Given the description of an element on the screen output the (x, y) to click on. 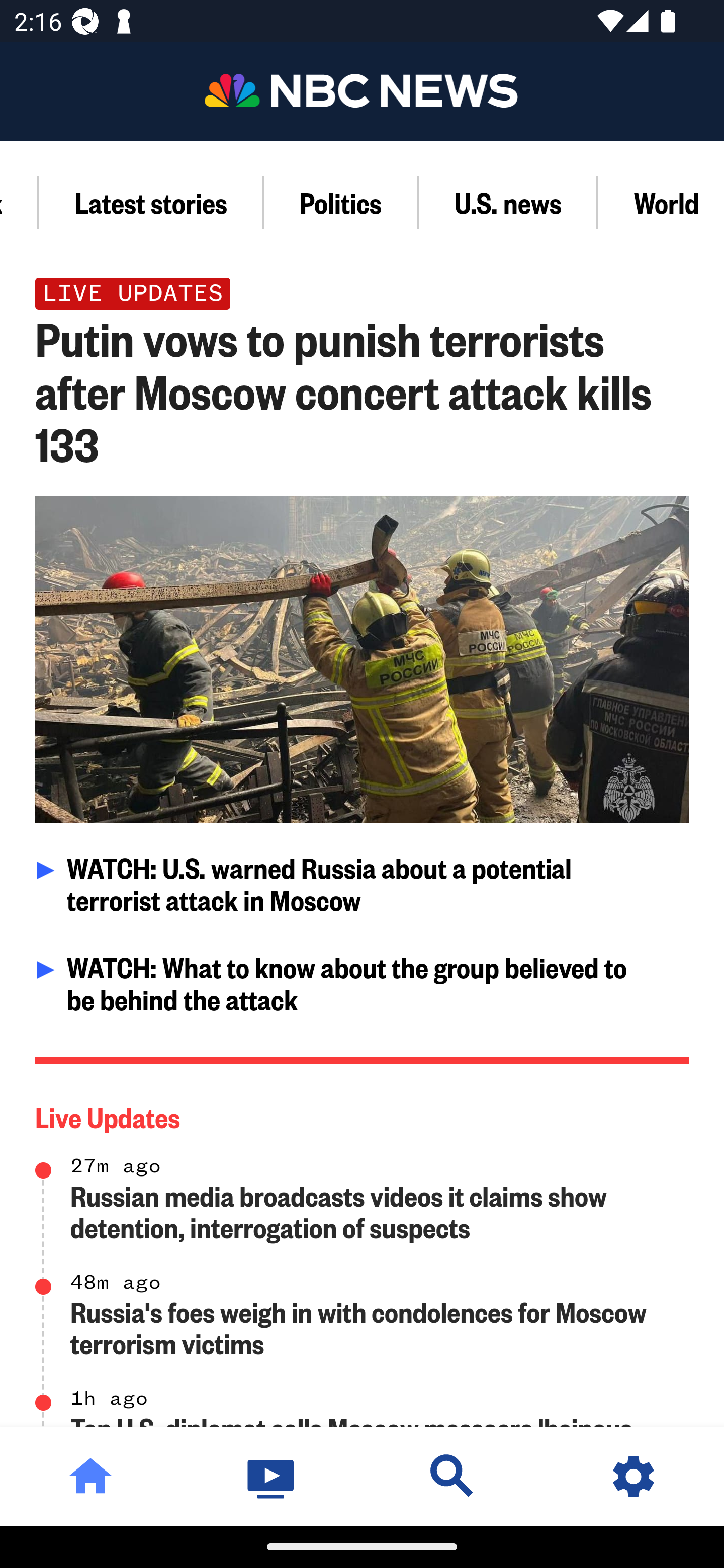
Latest stories Section,Latest stories (151, 202)
Politics Section,Politics (341, 202)
U.S. news Section,U.S. news (508, 202)
World Section,World (661, 202)
Live Updates (363, 1113)
Watch (271, 1475)
Discover (452, 1475)
Settings (633, 1475)
